Given the description of an element on the screen output the (x, y) to click on. 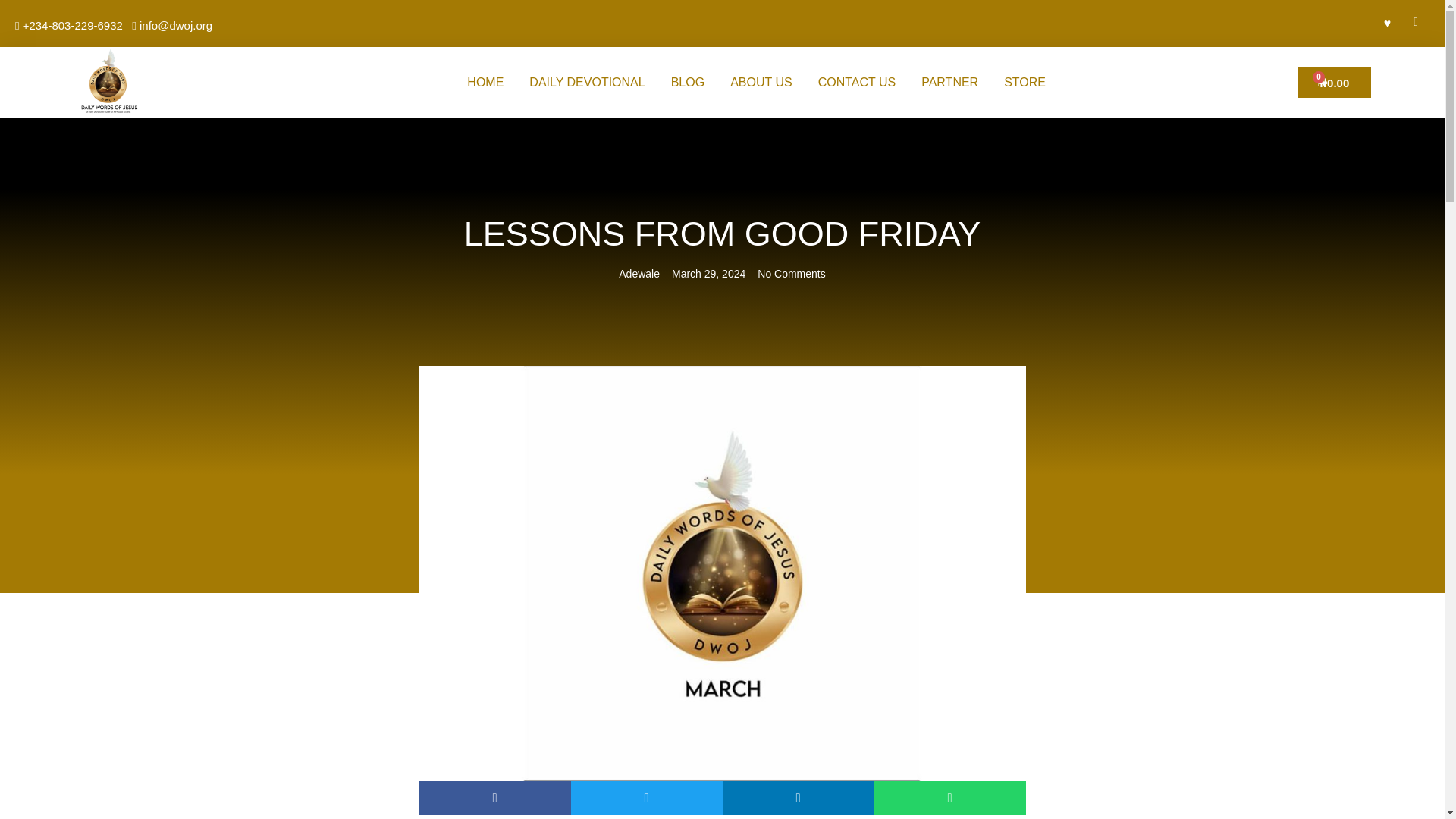
ABOUT US (761, 82)
PARTNER (950, 82)
Adewale (638, 273)
BLOG (687, 82)
HOME (485, 82)
STORE (1024, 82)
DAILY DEVOTIONAL (587, 82)
CONTACT US (856, 82)
